Given the description of an element on the screen output the (x, y) to click on. 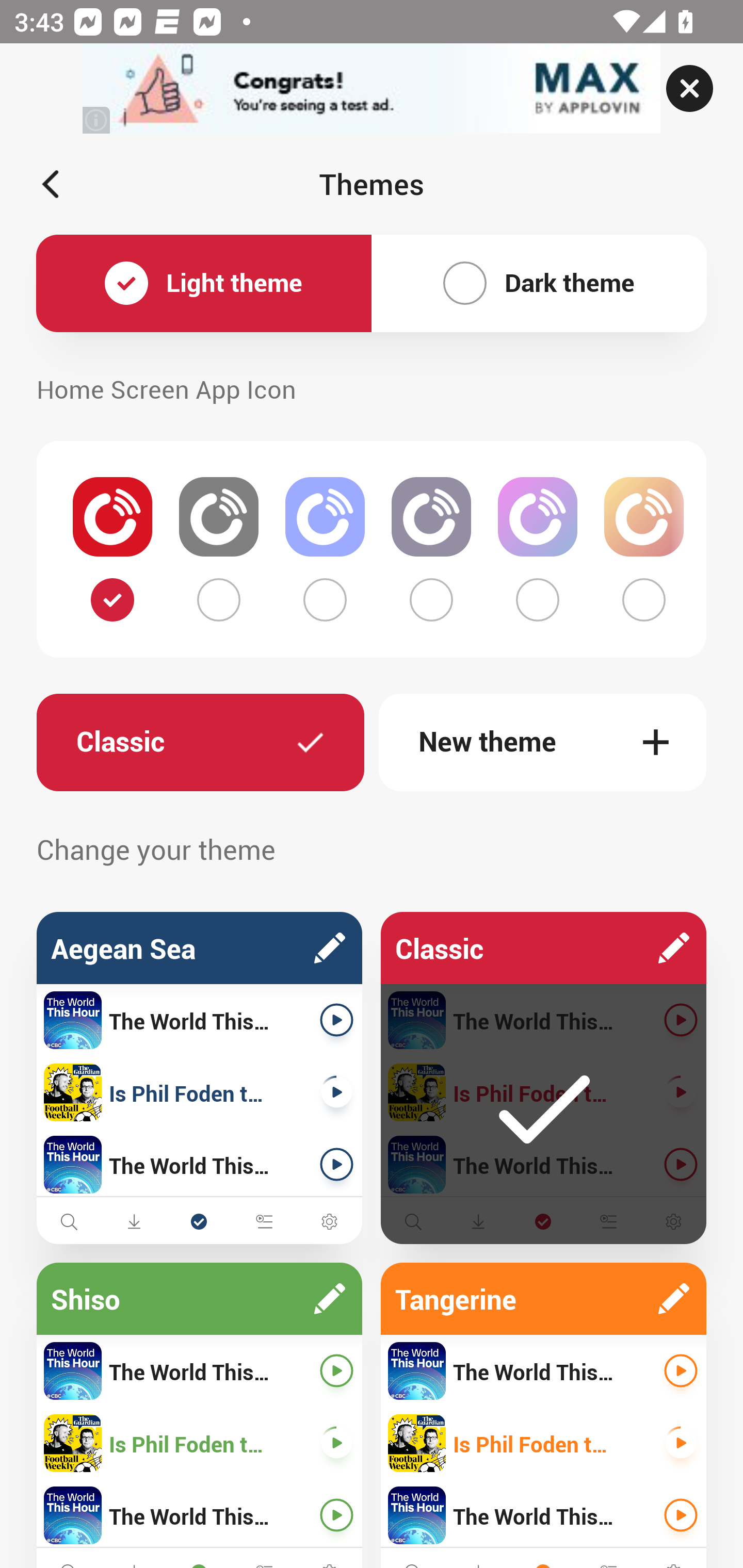
app-monetization (371, 88)
(i) (96, 119)
Navigate up (50, 184)
Light theme (203, 283)
Dark theme (538, 283)
New theme (542, 742)
Play button (336, 1019)
Play button (680, 1019)
Play button (336, 1092)
Play button (680, 1092)
Play button (336, 1164)
Play button (680, 1164)
Discover (68, 1221)
Downloads (133, 1221)
Following (198, 1221)
Playlists (263, 1221)
Settings (329, 1221)
Discover (412, 1221)
Downloads (478, 1221)
Following (543, 1221)
Playlists (607, 1221)
Settings (673, 1221)
Play button (336, 1371)
Play button (680, 1371)
Play button (336, 1443)
Play button (680, 1443)
Play button (336, 1515)
Play button (680, 1515)
